Given the description of an element on the screen output the (x, y) to click on. 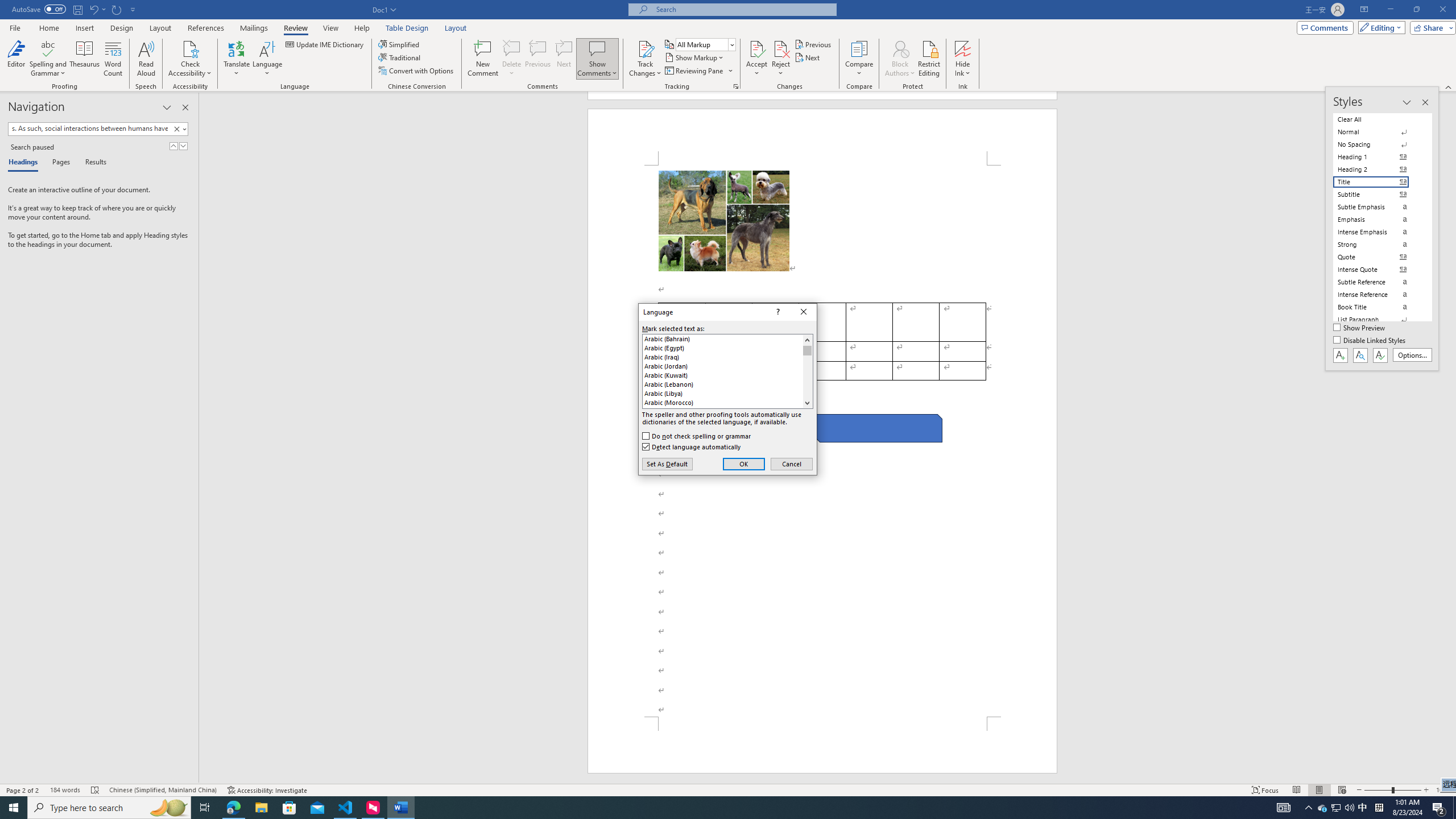
Intense Reference (1377, 294)
Word Count (113, 58)
Language (267, 58)
File Explorer (261, 807)
Context help (777, 312)
Clear (176, 128)
Intense Quote (1377, 269)
Check Accessibility (189, 48)
Page Number Page 2 of 2 (22, 790)
